Given the description of an element on the screen output the (x, y) to click on. 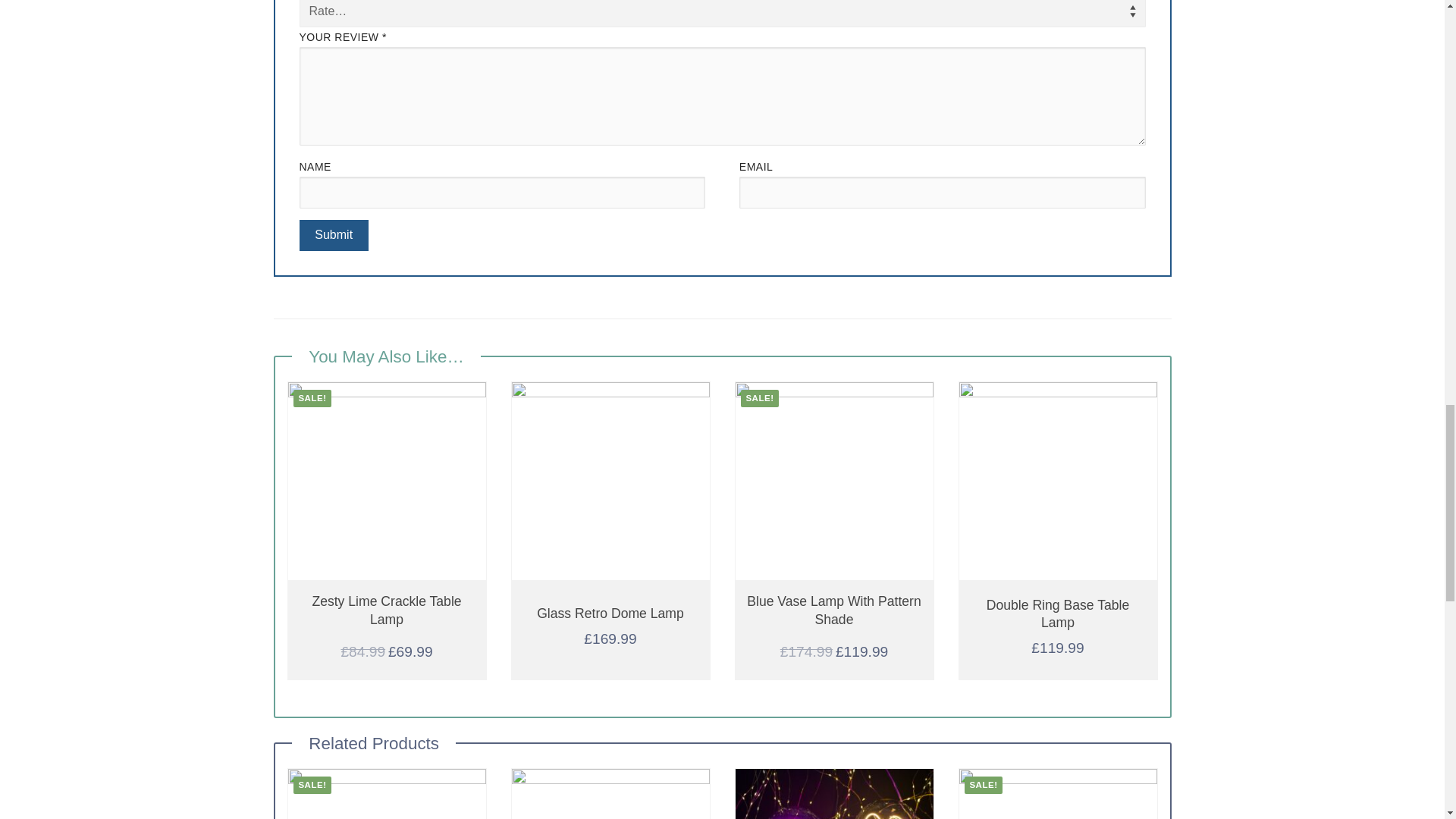
Submit (333, 235)
